Given the description of an element on the screen output the (x, y) to click on. 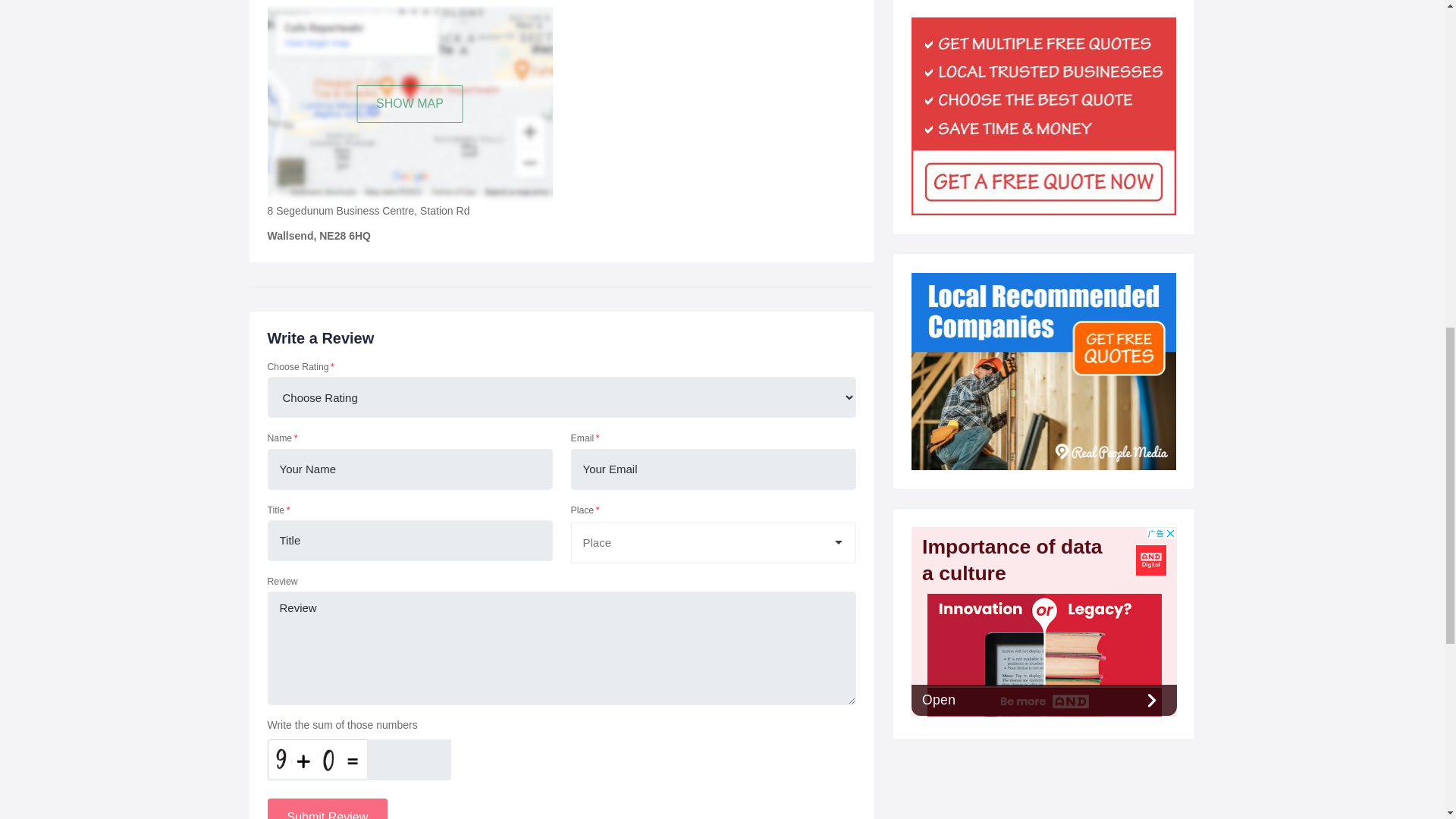
SHOW MAP (409, 103)
UK Business Directory (1043, 371)
Get a Free Quote (1043, 116)
Advertisement (1043, 621)
Submit Review (326, 808)
